Given the description of an element on the screen output the (x, y) to click on. 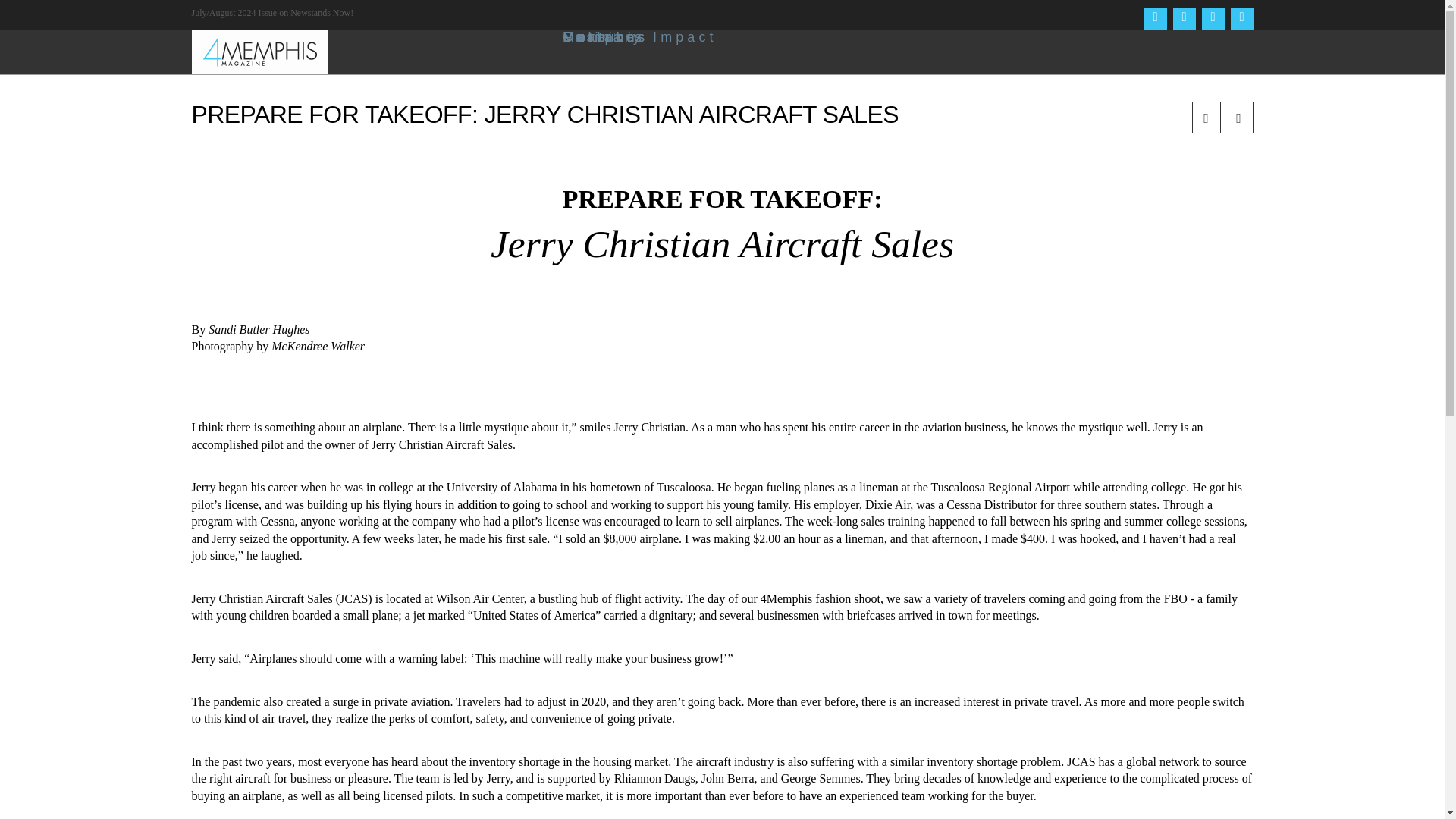
Facebook (1154, 18)
Twitter (1183, 18)
Pinterest (1241, 18)
Instagram (1212, 18)
